Given the description of an element on the screen output the (x, y) to click on. 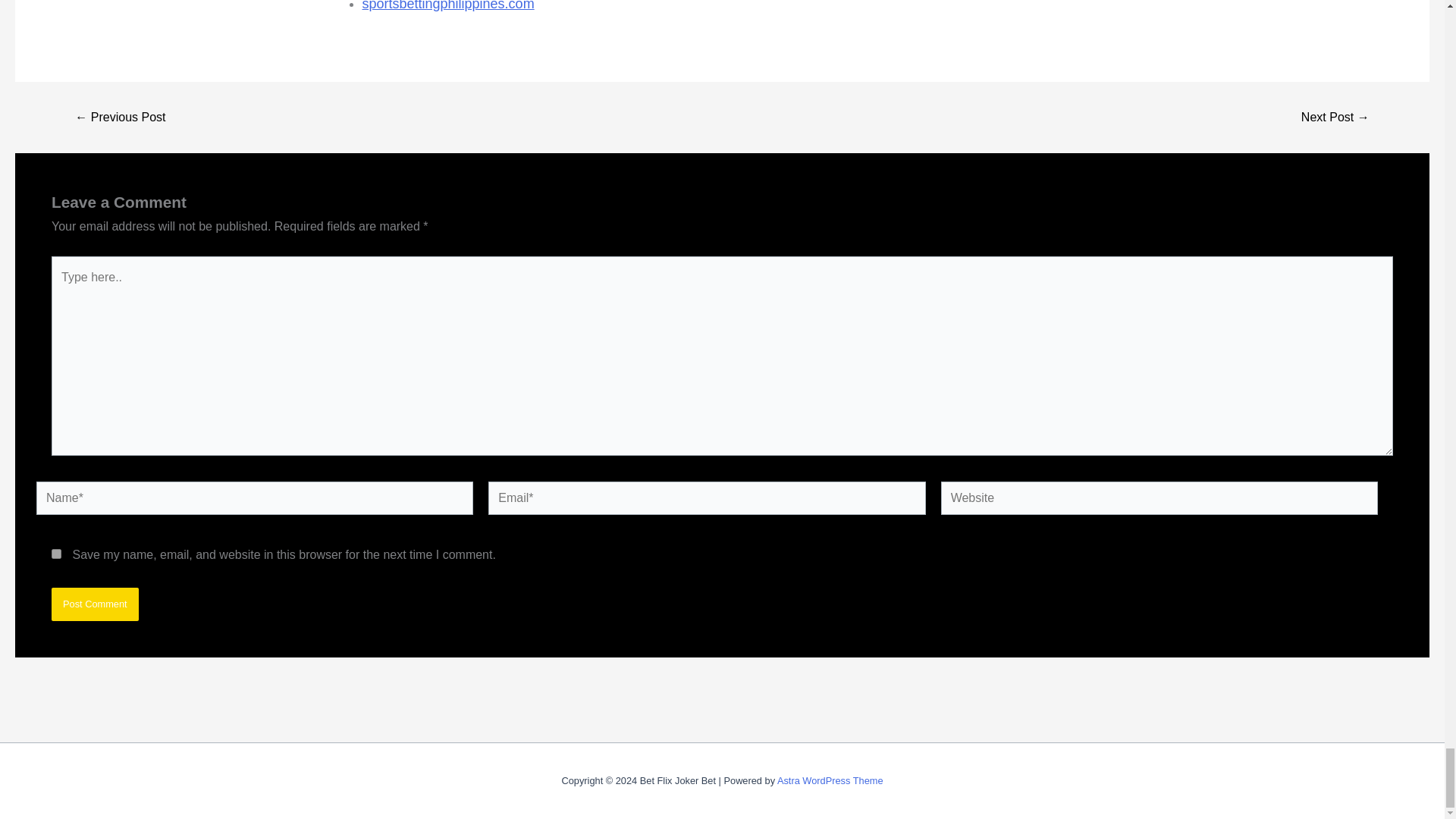
yes (55, 553)
Post Comment (94, 604)
BW777 GAMING (1334, 117)
